Given the description of an element on the screen output the (x, y) to click on. 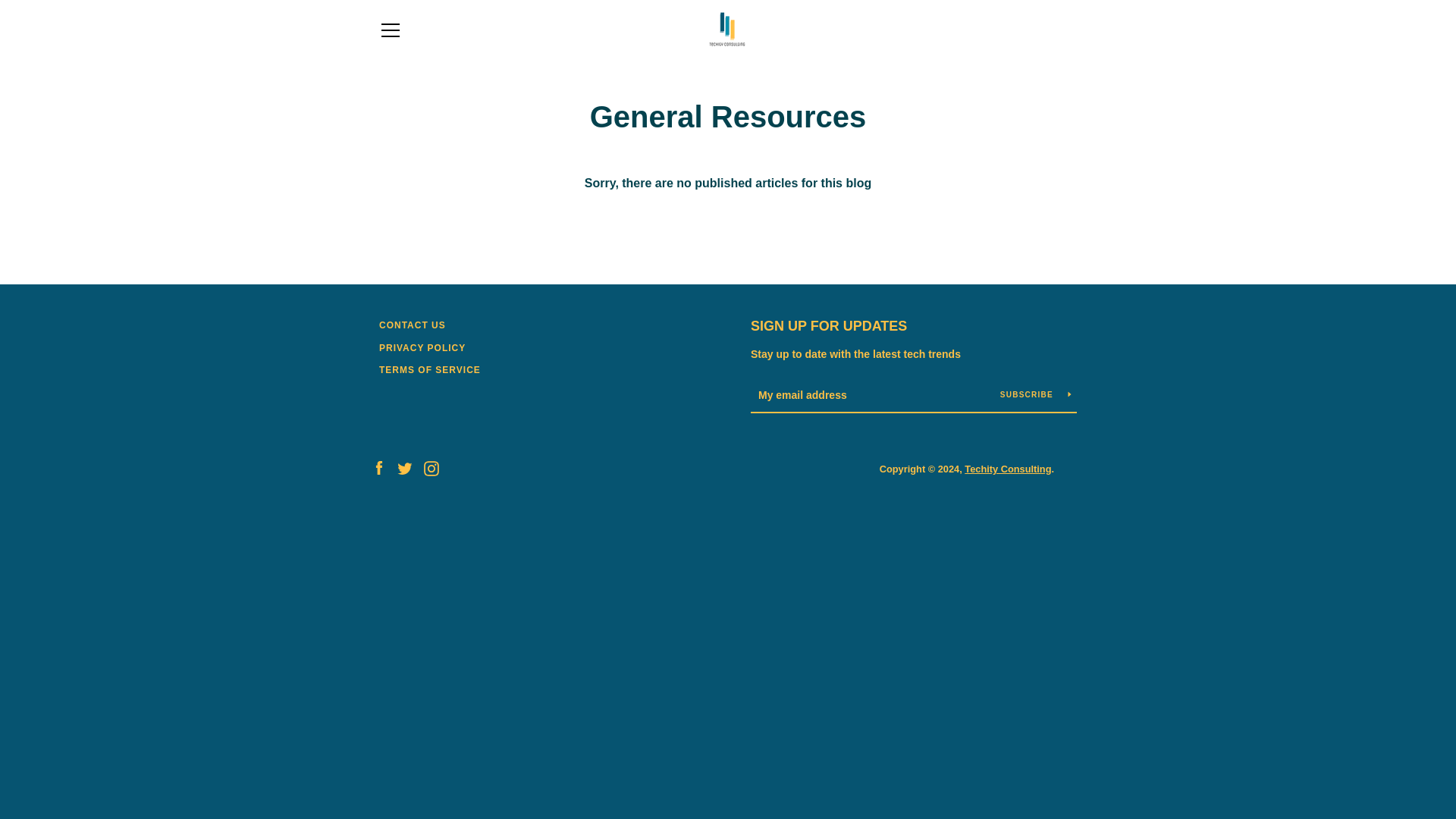
Techity Consulting (1007, 469)
Techity Consulting on Twitter (404, 468)
SUBSCRIBE (1035, 394)
MENU (390, 30)
PRIVACY POLICY (421, 347)
Instagram (431, 468)
Techity Consulting on Facebook (379, 468)
Techity Consulting on Instagram (431, 468)
TERMS OF SERVICE (429, 369)
Twitter (404, 468)
Facebook (379, 468)
CONTACT US (411, 325)
